Given the description of an element on the screen output the (x, y) to click on. 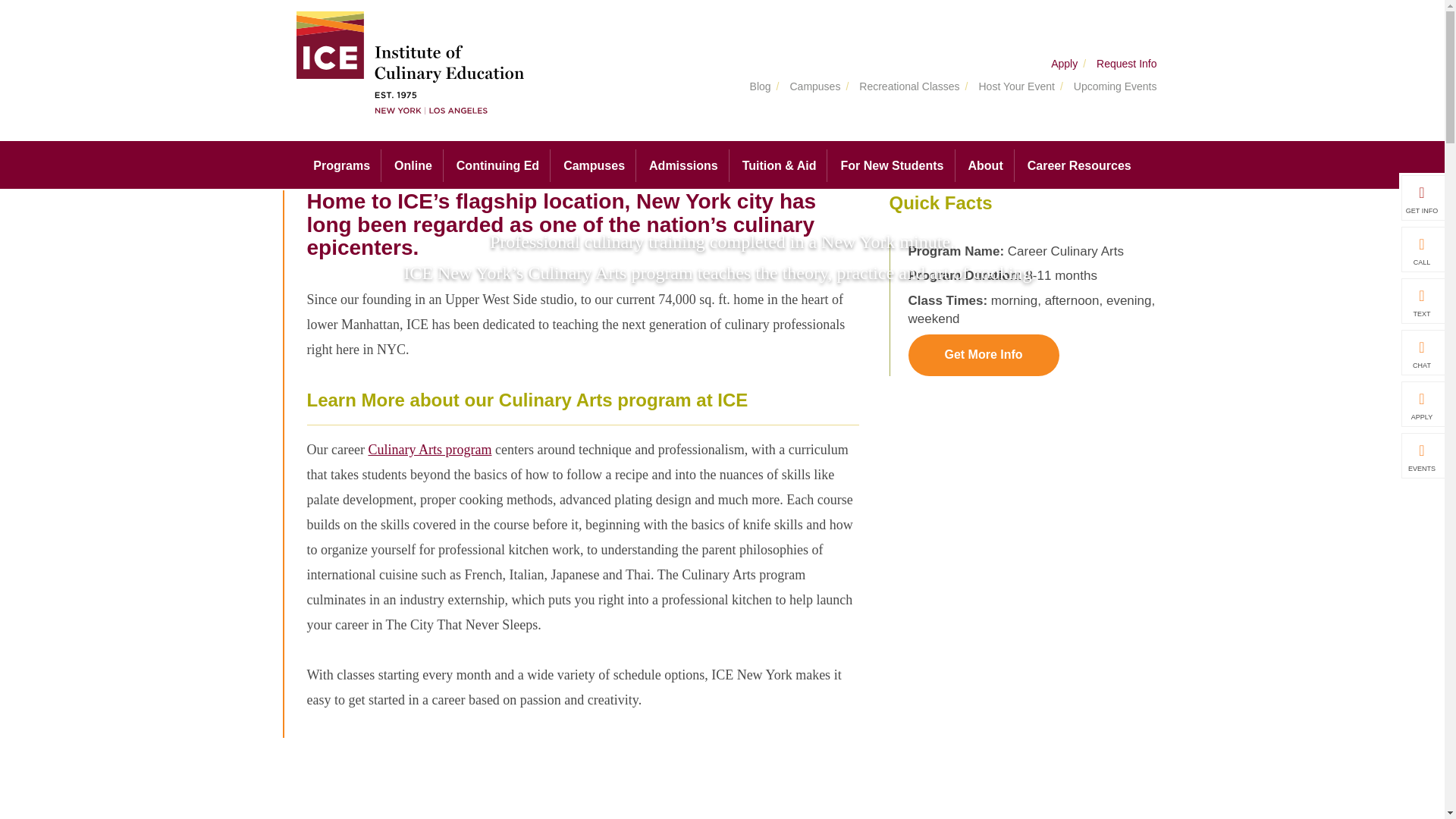
Continuing Ed (497, 165)
Admissions (683, 165)
Programs (341, 164)
Campuses (594, 165)
Online (412, 165)
